Given the description of an element on the screen output the (x, y) to click on. 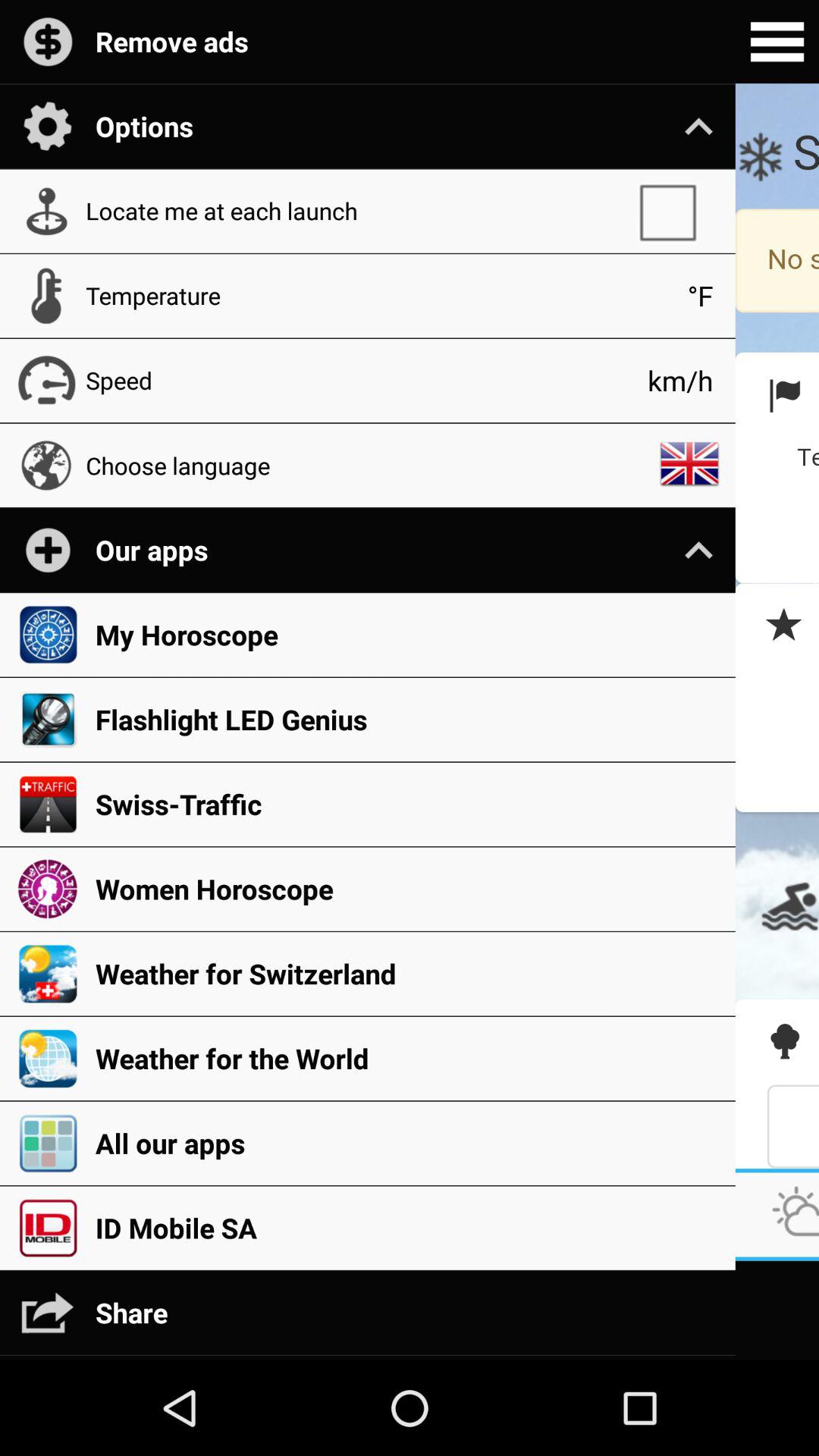
launch app next to the locate me at app (675, 211)
